Given the description of an element on the screen output the (x, y) to click on. 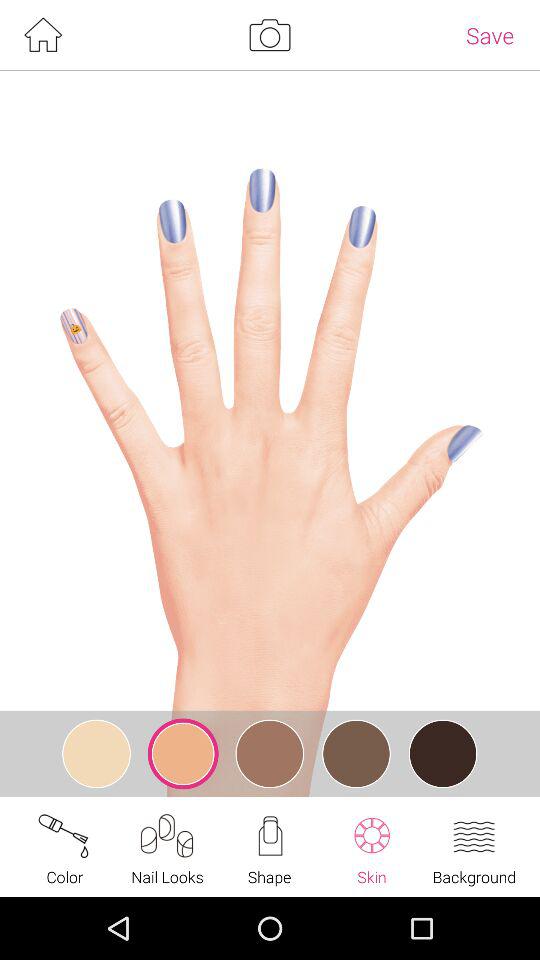
select item at the top right corner (490, 35)
